Given the description of an element on the screen output the (x, y) to click on. 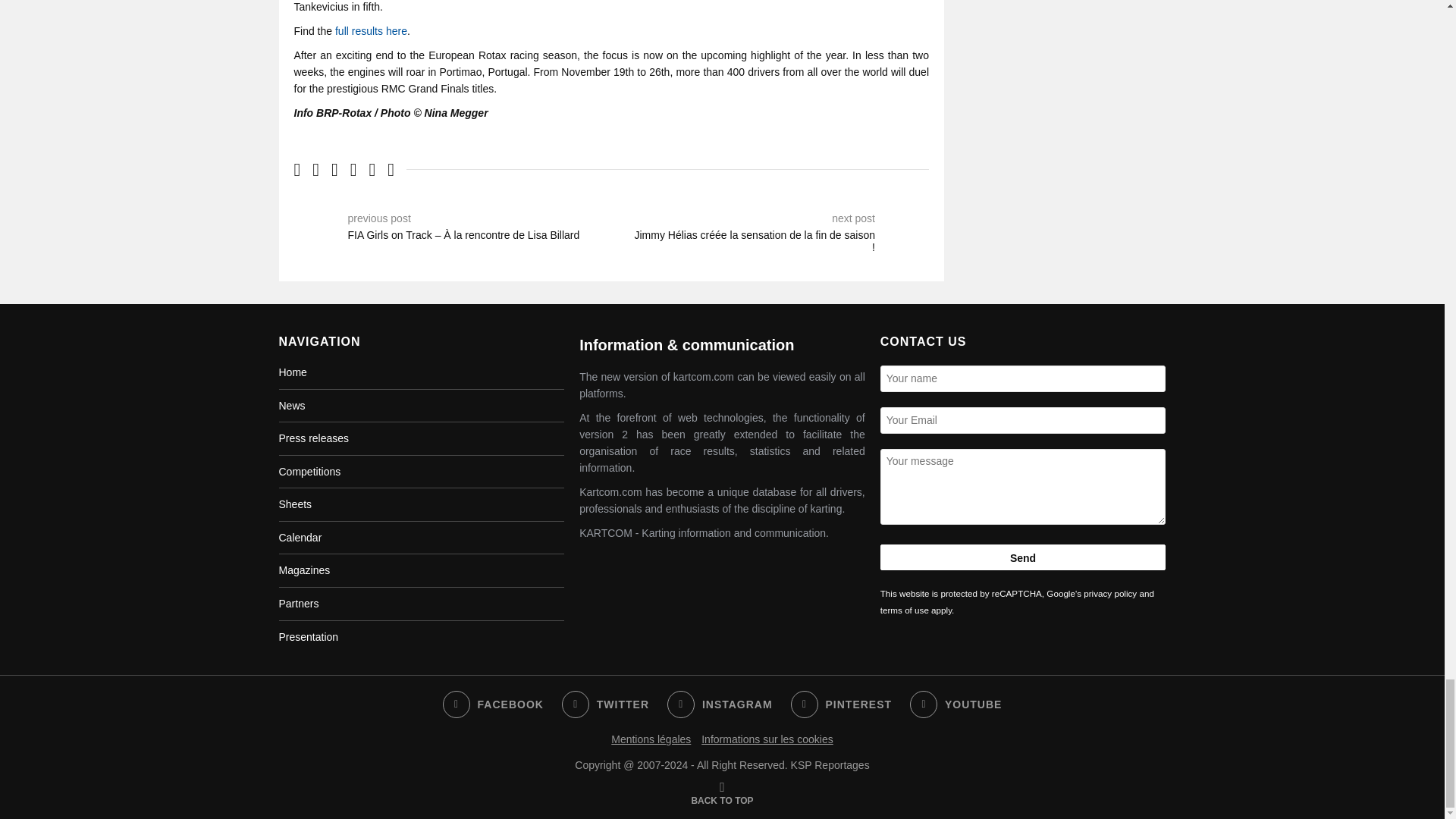
Send (1023, 557)
